Given the description of an element on the screen output the (x, y) to click on. 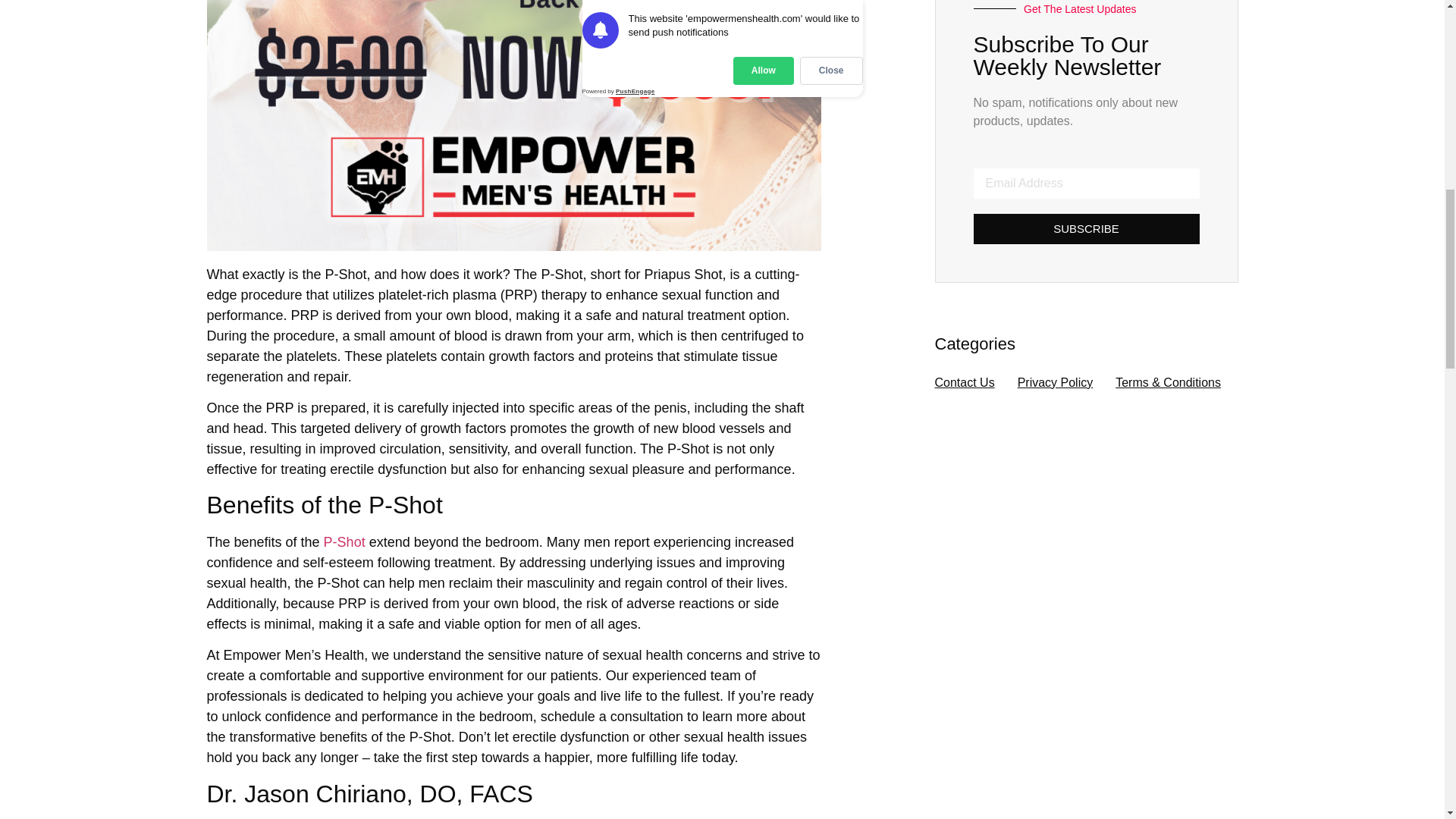
P-Shot (344, 541)
Privacy Policy (1055, 382)
Contact Us (964, 382)
SUBSCRIBE (1086, 228)
